Given the description of an element on the screen output the (x, y) to click on. 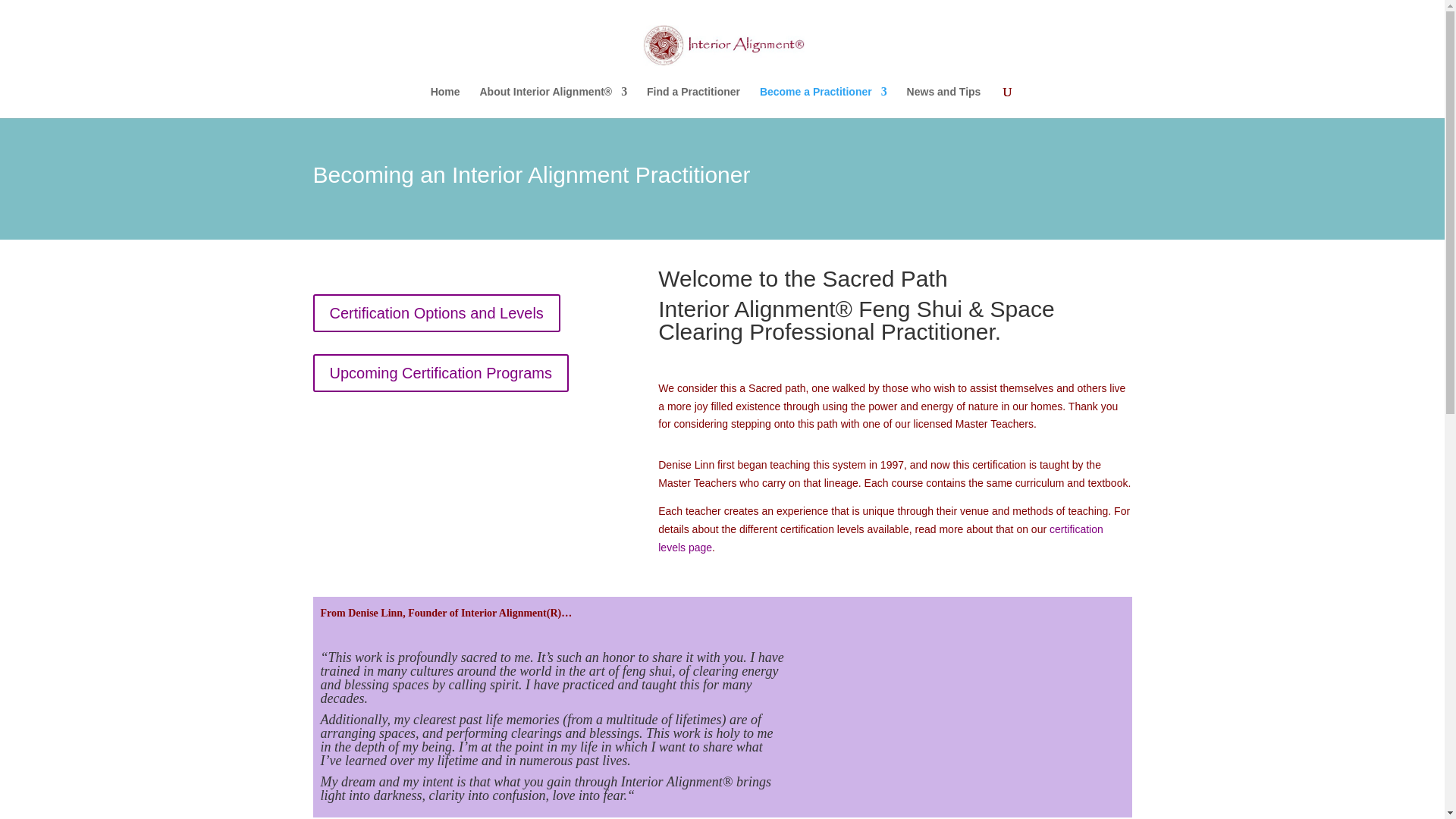
Certification Levels (880, 538)
Home (445, 101)
Find a Practitioner (692, 101)
Upcoming Certification Programs (440, 372)
Become a Practitioner (823, 101)
News and Tips (944, 101)
Certification Options and Levels (436, 313)
certification levels page (880, 538)
